Given the description of an element on the screen output the (x, y) to click on. 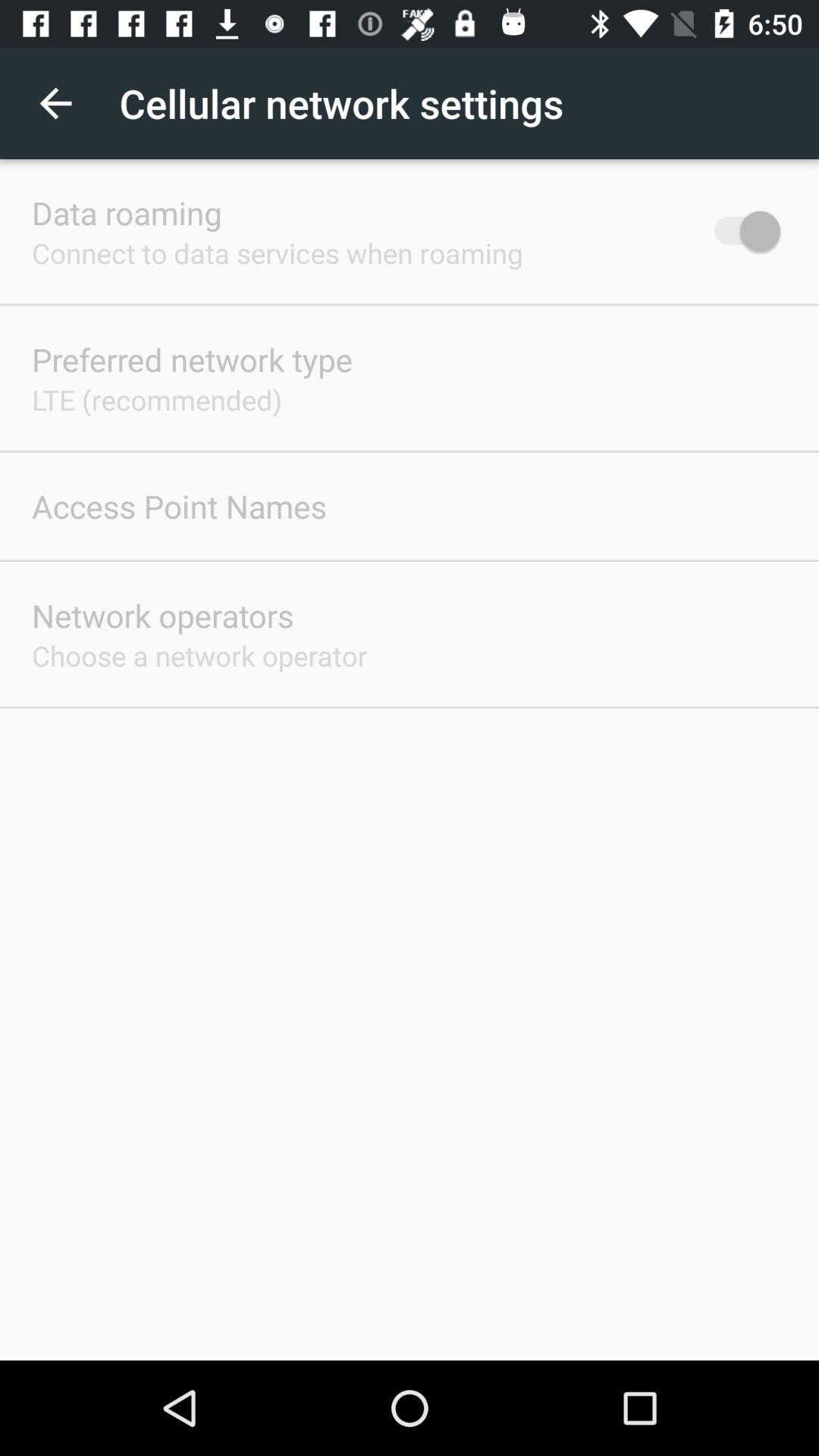
press item above the data roaming item (55, 103)
